Given the description of an element on the screen output the (x, y) to click on. 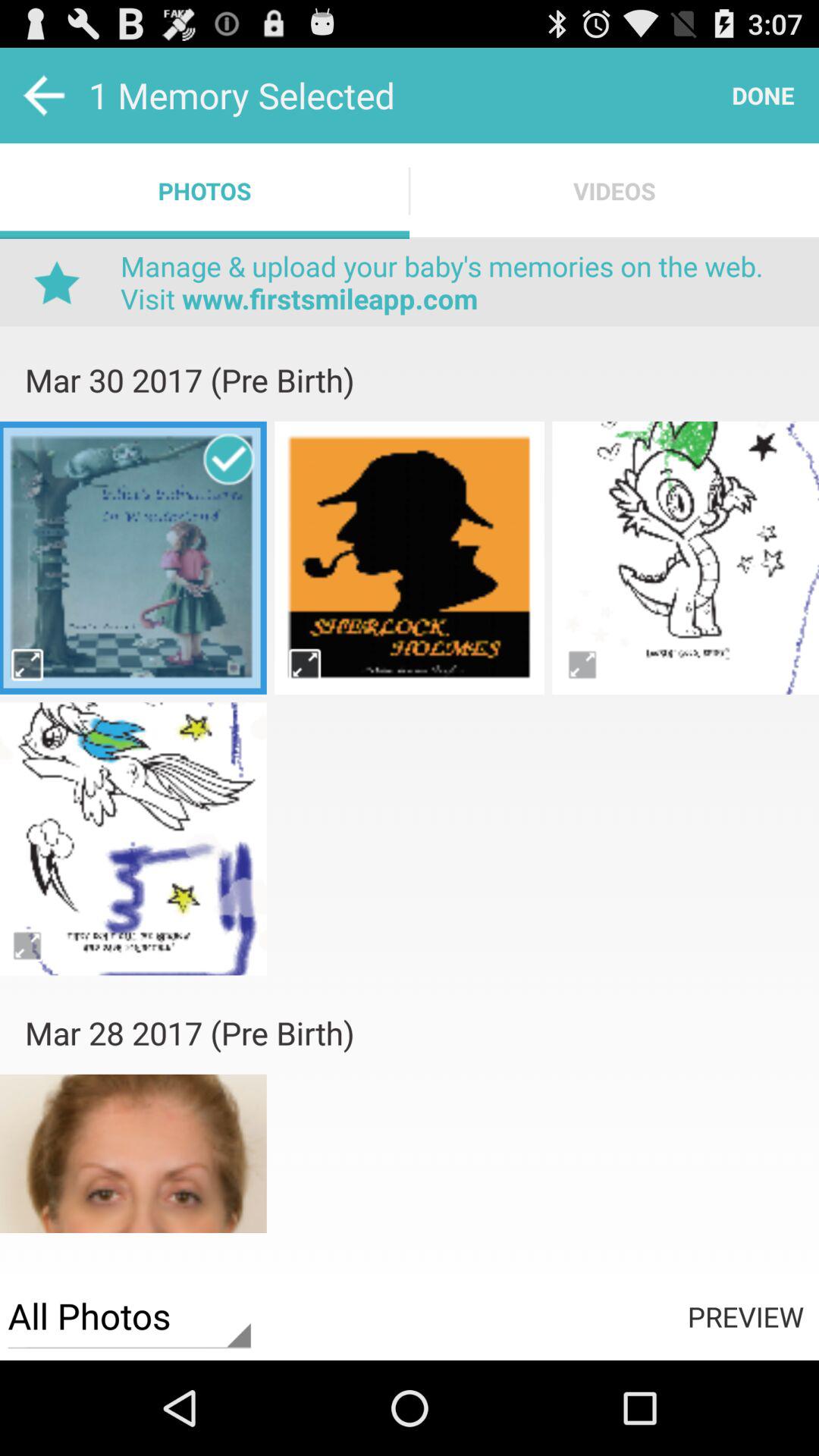
big page (28, 664)
